Given the description of an element on the screen output the (x, y) to click on. 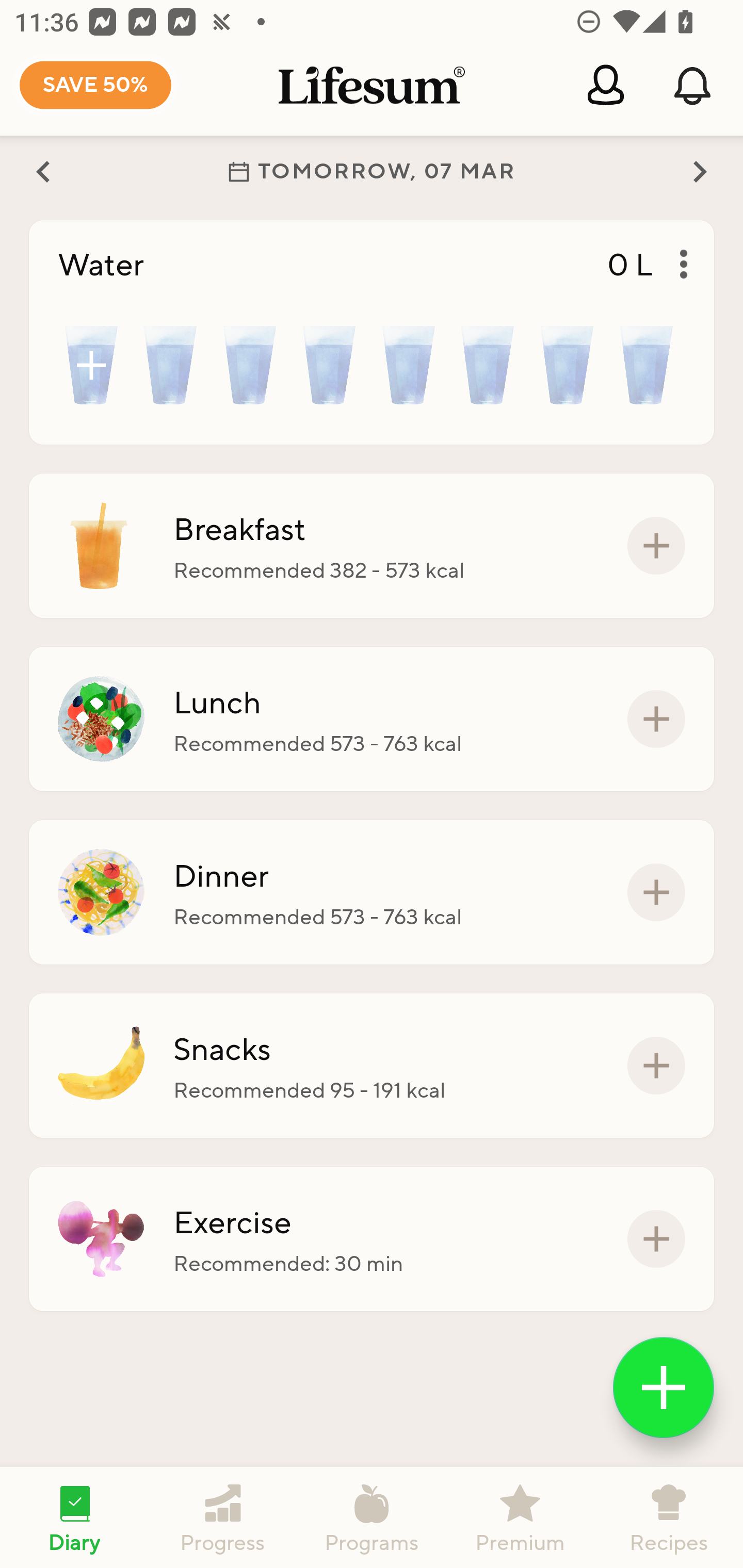
TOMORROW, 07 MAR (371, 171)
Breakfast Recommended 382 - 573 kcal (371, 545)
Lunch Recommended 573 - 763 kcal (371, 718)
Dinner Recommended 573 - 763 kcal (371, 892)
Snacks Recommended 95 - 191 kcal (371, 1066)
Exercise Recommended: 30 min (371, 1238)
Progress (222, 1517)
Programs (371, 1517)
Premium (519, 1517)
Recipes (668, 1517)
